Given the description of an element on the screen output the (x, y) to click on. 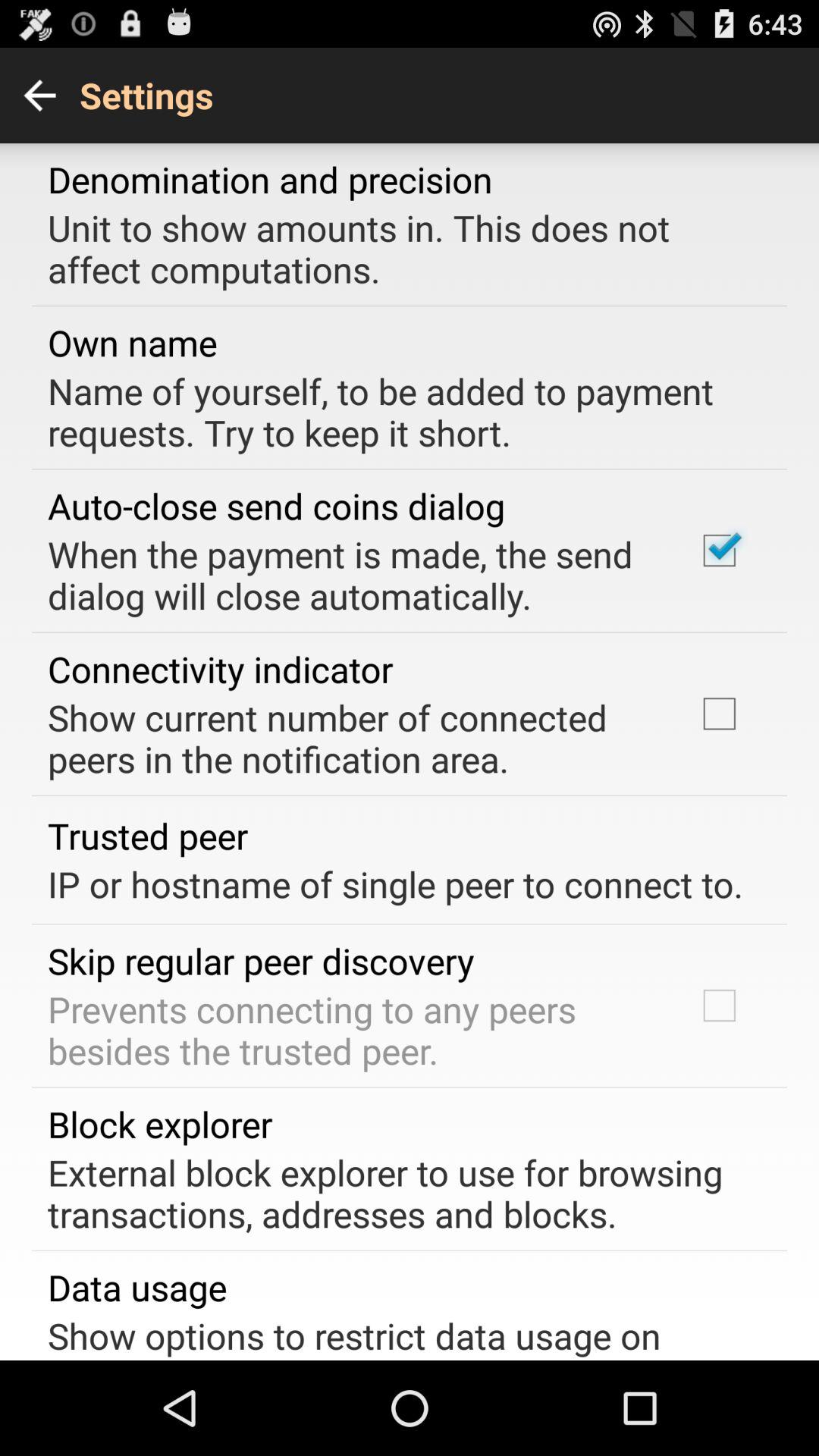
scroll to when the payment item (351, 574)
